Given the description of an element on the screen output the (x, y) to click on. 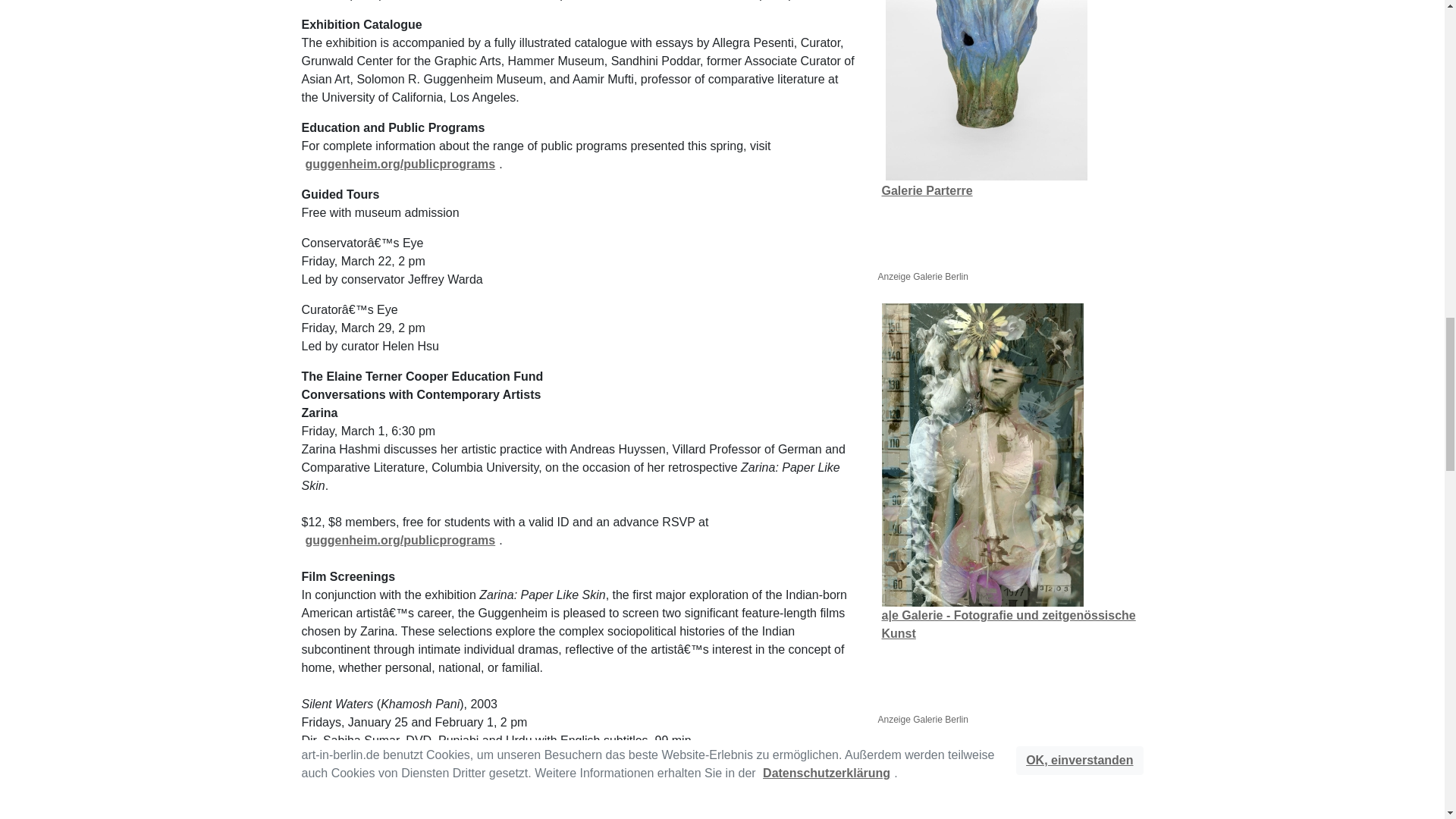
Werkabbildung (981, 454)
Werkabbildung (994, 782)
